Given the description of an element on the screen output the (x, y) to click on. 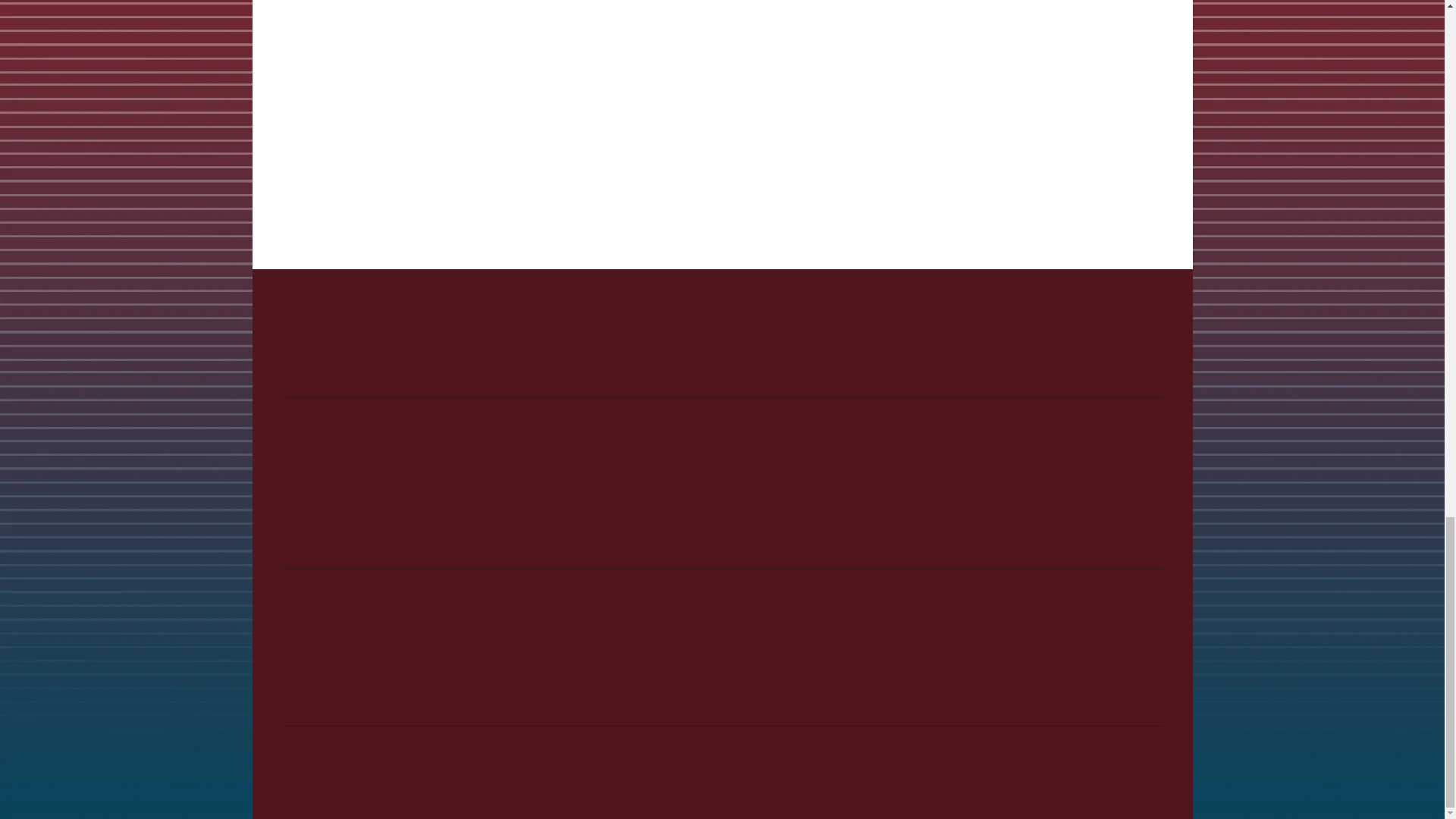
Column (721, 678)
thin section services (527, 166)
Column (721, 521)
713-661-1884 (722, 611)
Column (721, 349)
